Given the description of an element on the screen output the (x, y) to click on. 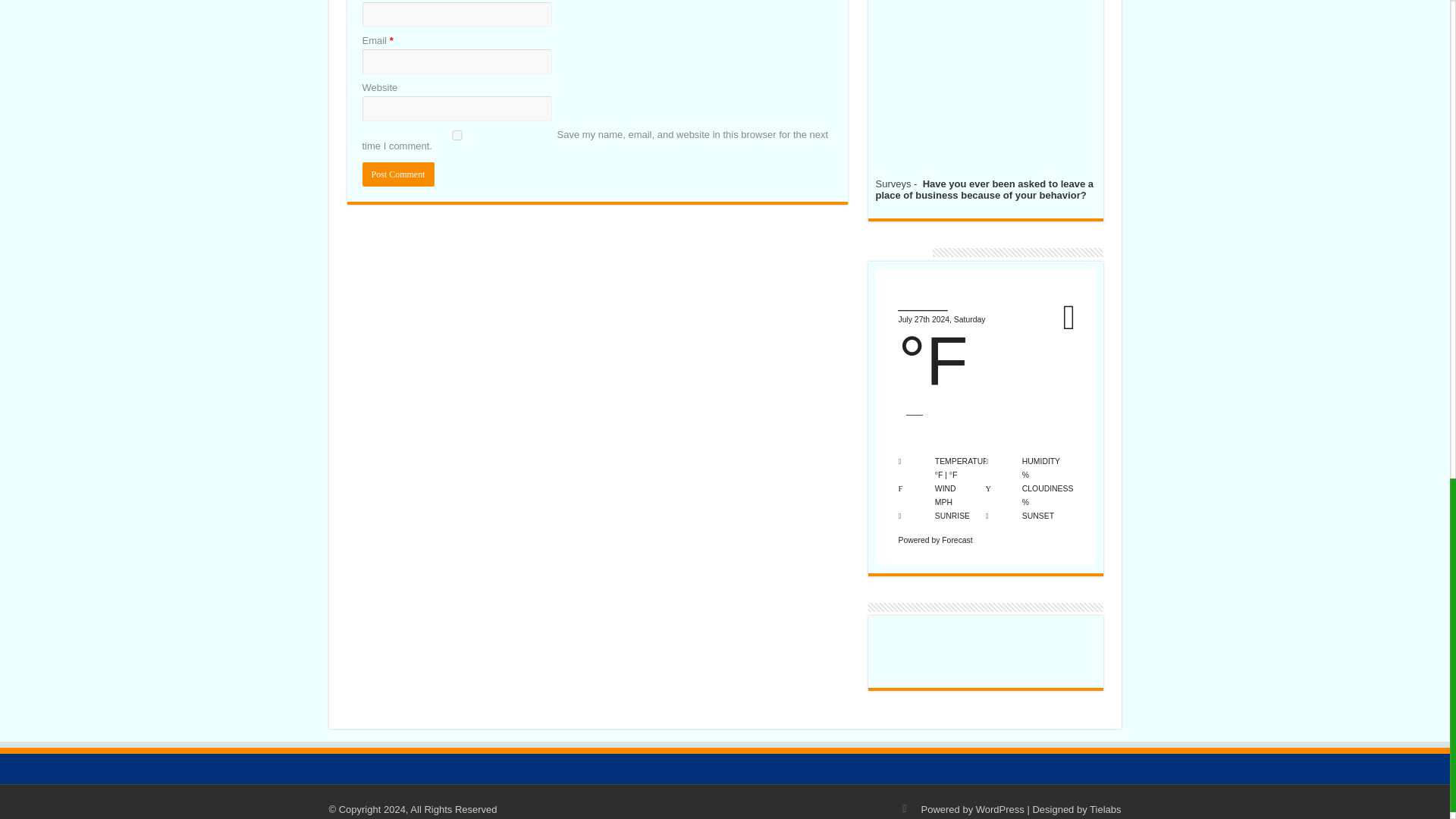
yes (456, 135)
Post Comment (397, 174)
